Given the description of an element on the screen output the (x, y) to click on. 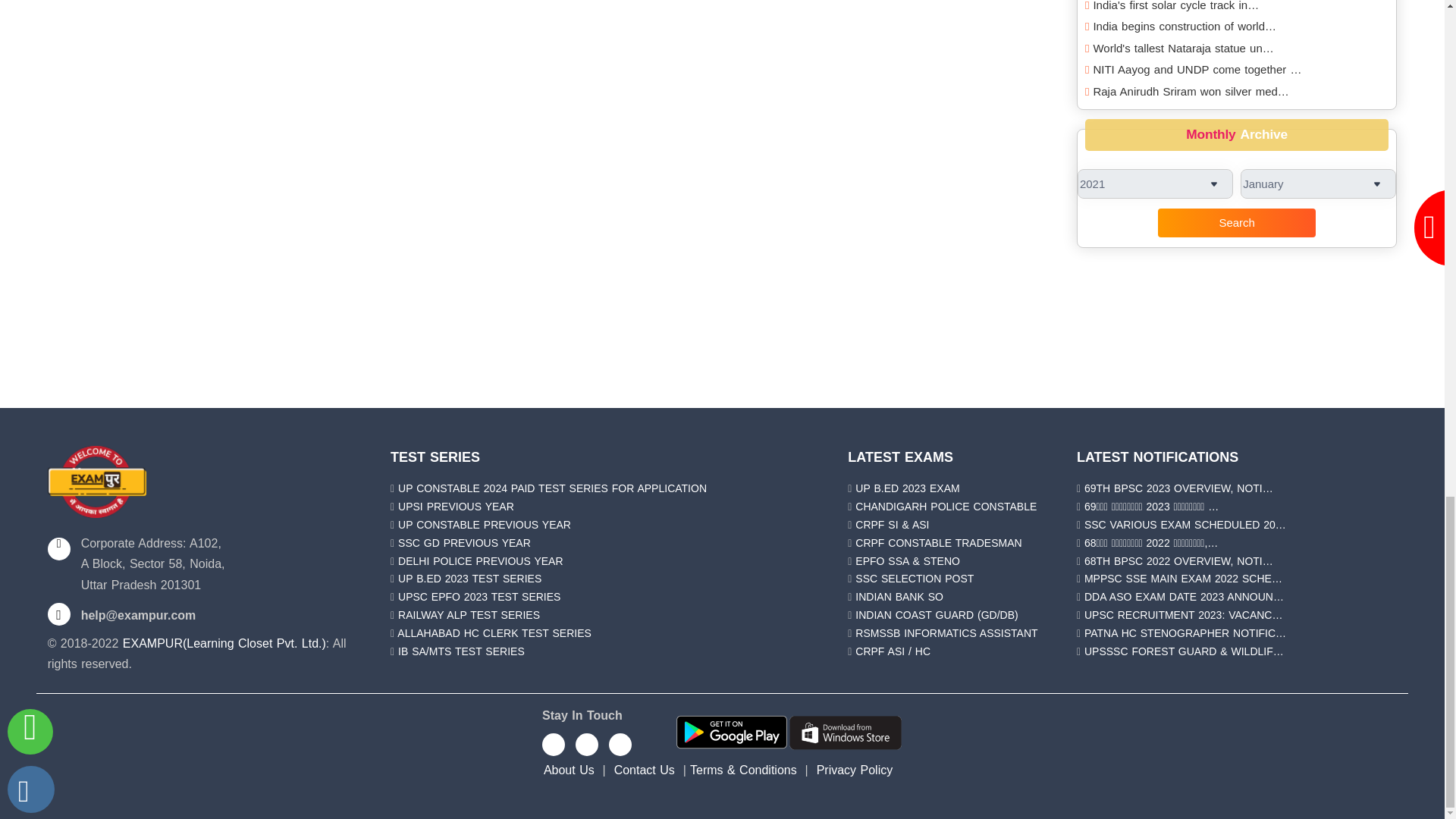
DDA ASO EXAM DATE 2023 ANNOUNCED: ADMIT CARD DETAILS (1184, 596)
SSC VARIOUS EXAM SCHEDULED 2022: CHECK YOUR EXAM DATE HERE (1184, 524)
MPPSC SSE MAIN EXAM 2022 SCHEDULE: GET YOUR ADMIT CARD (1183, 578)
